Given the description of an element on the screen output the (x, y) to click on. 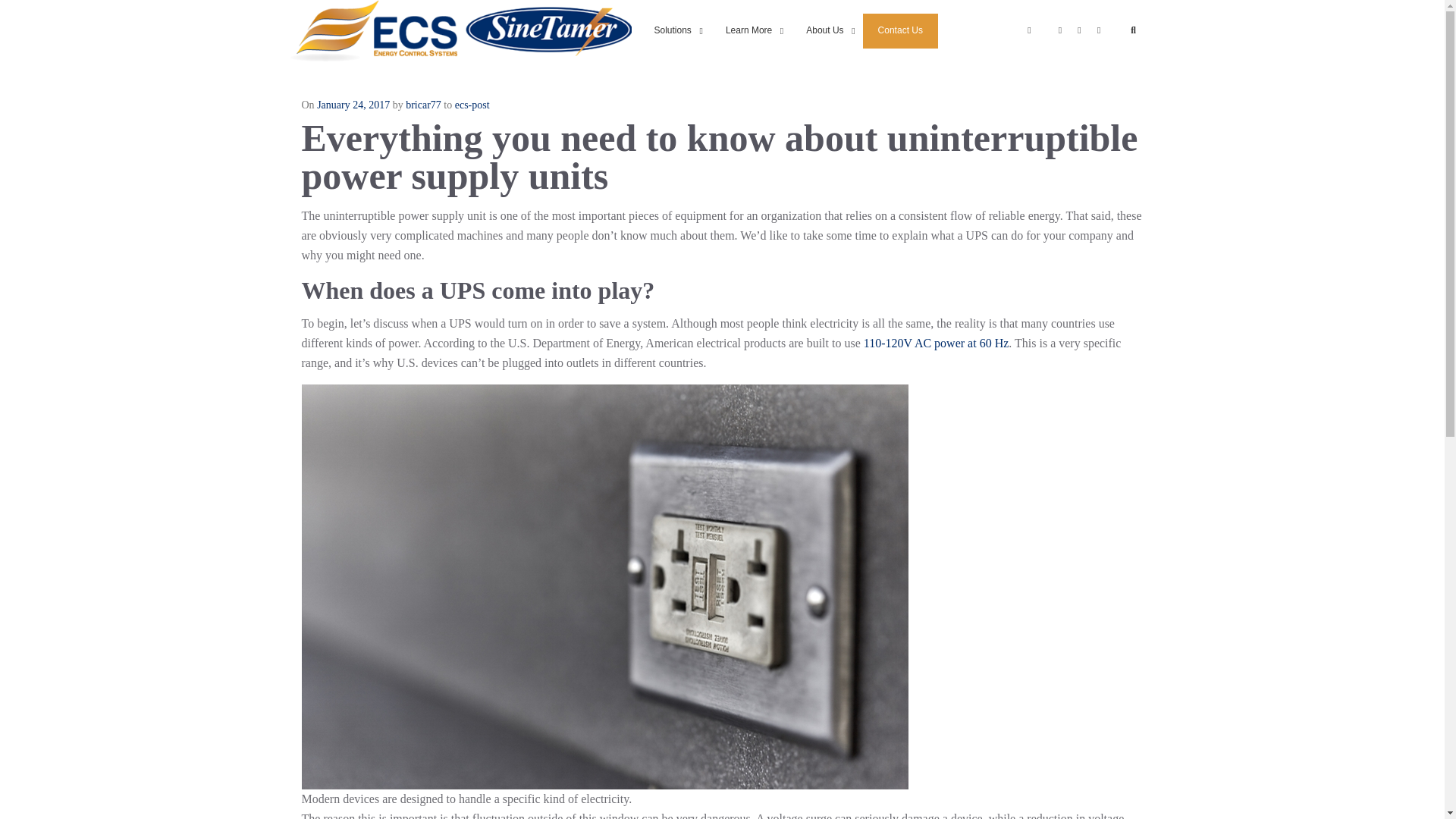
logo (896, 30)
Solutions (373, 30)
sinetimerlogo (674, 30)
